Given the description of an element on the screen output the (x, y) to click on. 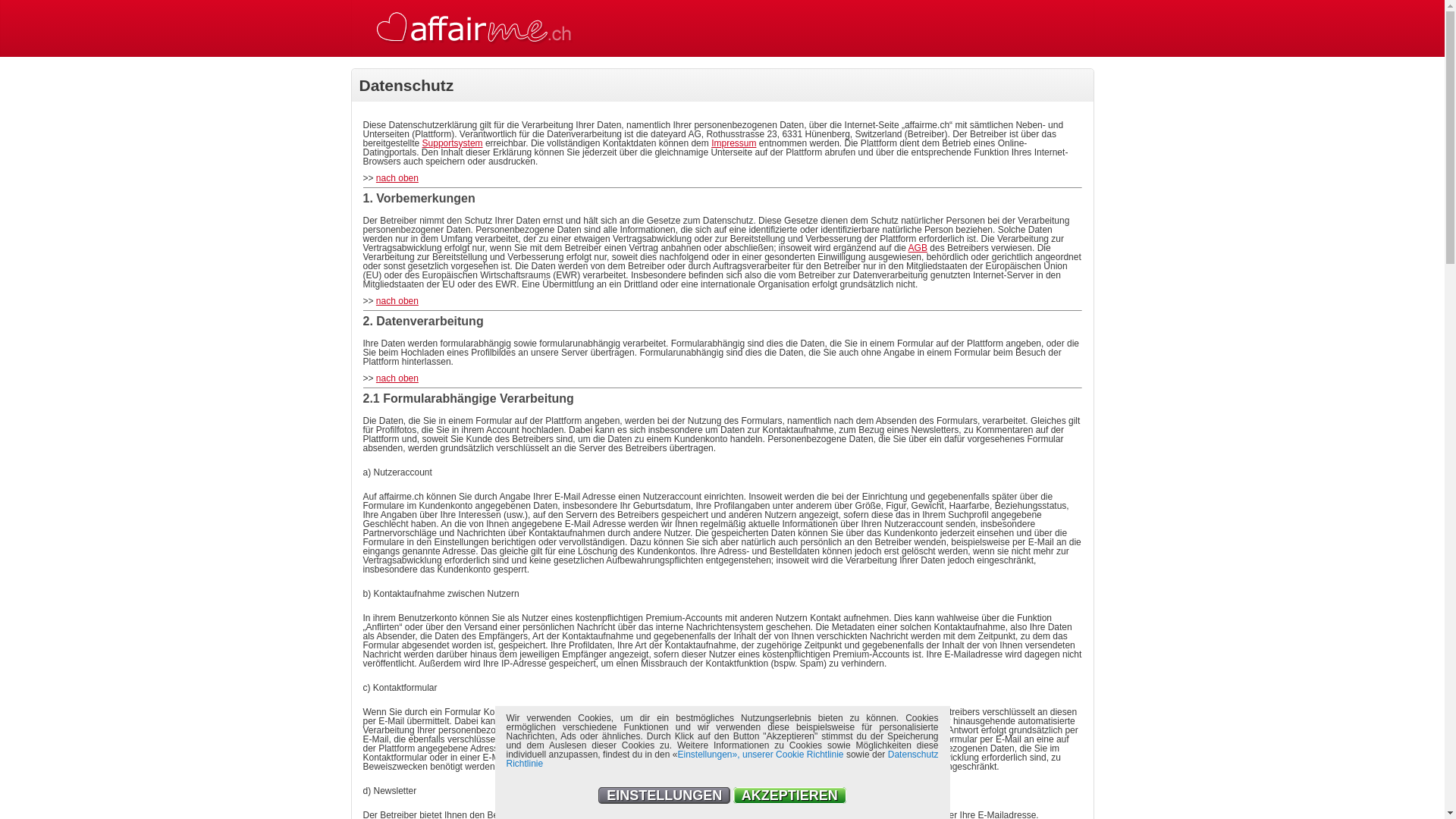
nach oben Element type: text (397, 177)
nach oben Element type: text (397, 300)
Einstellungen Element type: text (704, 754)
nach oben Element type: text (397, 378)
Cookie Richtlinie Element type: text (809, 754)
EINSTELLUNGEN Element type: text (664, 795)
Datenschutz Richtlinie Element type: text (722, 758)
Impressum Element type: text (733, 143)
AKZEPTIEREN Element type: text (789, 795)
AGB Element type: text (917, 247)
Supportsystem Element type: text (452, 143)
